Given the description of an element on the screen output the (x, y) to click on. 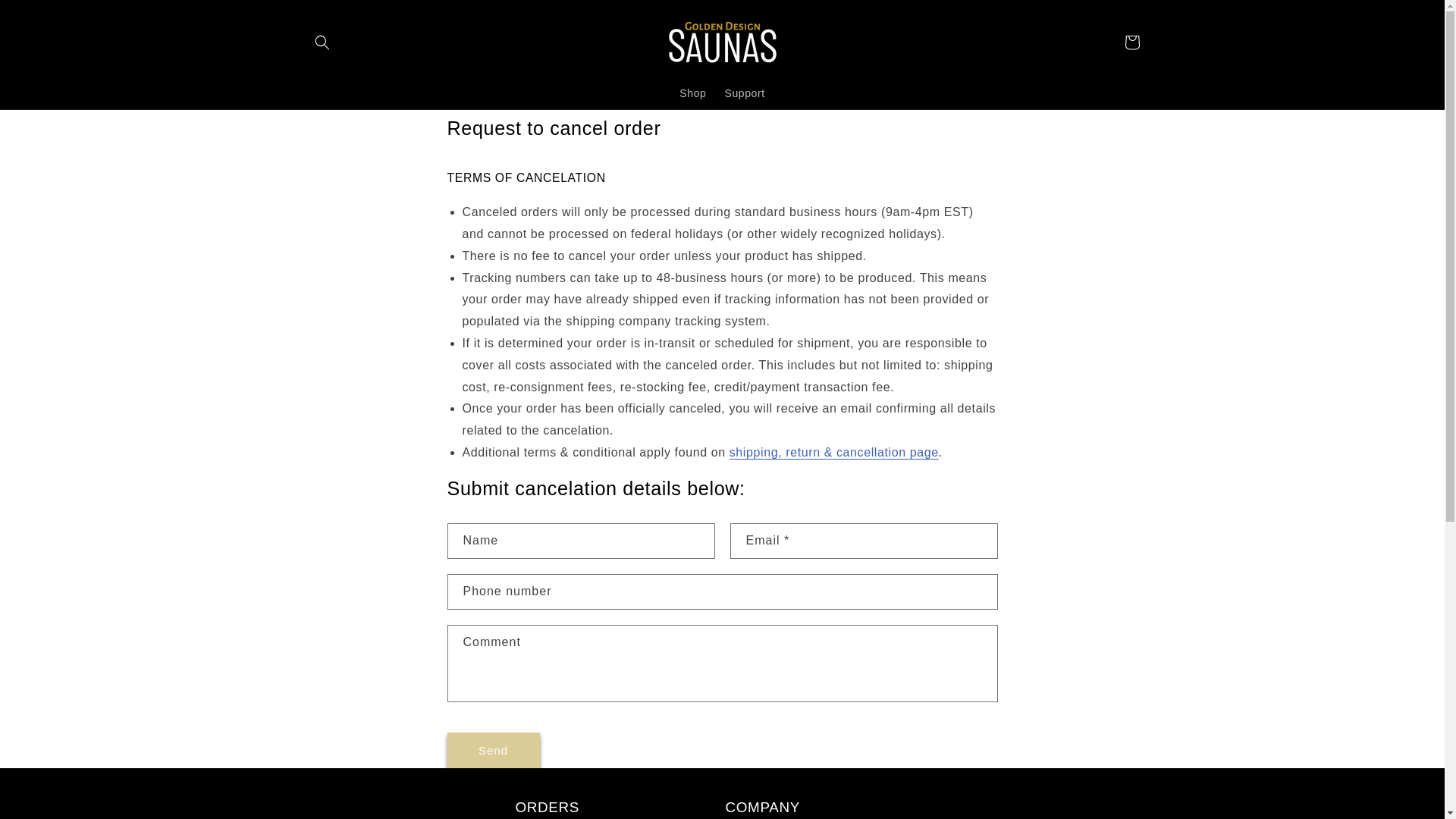
Skip to content (45, 17)
Cart (1131, 41)
Shop (691, 92)
Support (743, 92)
Send (493, 750)
